Given the description of an element on the screen output the (x, y) to click on. 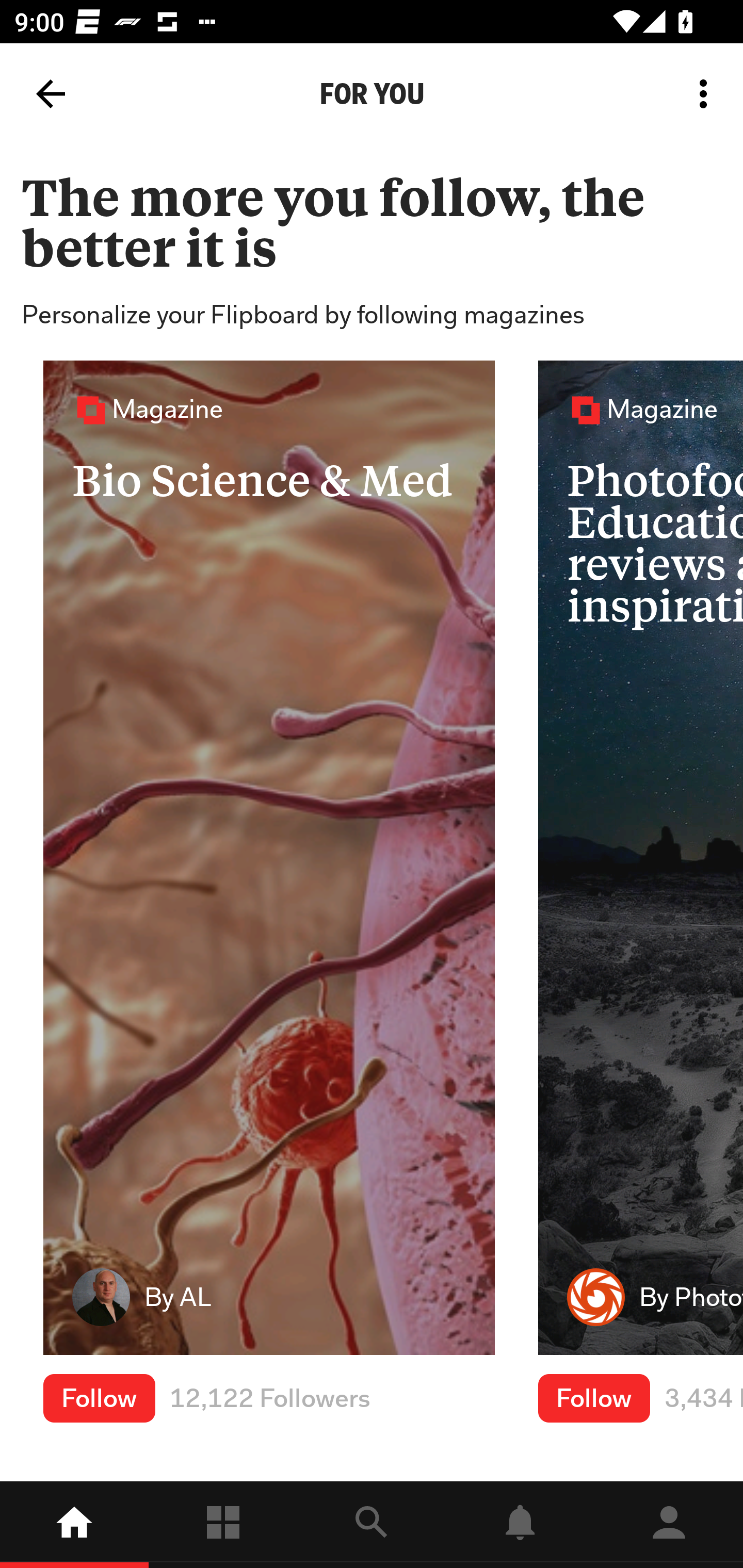
Back (50, 93)
FOR YOU (371, 93)
More options (706, 93)
Follow (99, 1397)
Follow (593, 1397)
home (74, 1524)
Following (222, 1524)
explore (371, 1524)
Notifications (519, 1524)
Profile (668, 1524)
